Given the description of an element on the screen output the (x, y) to click on. 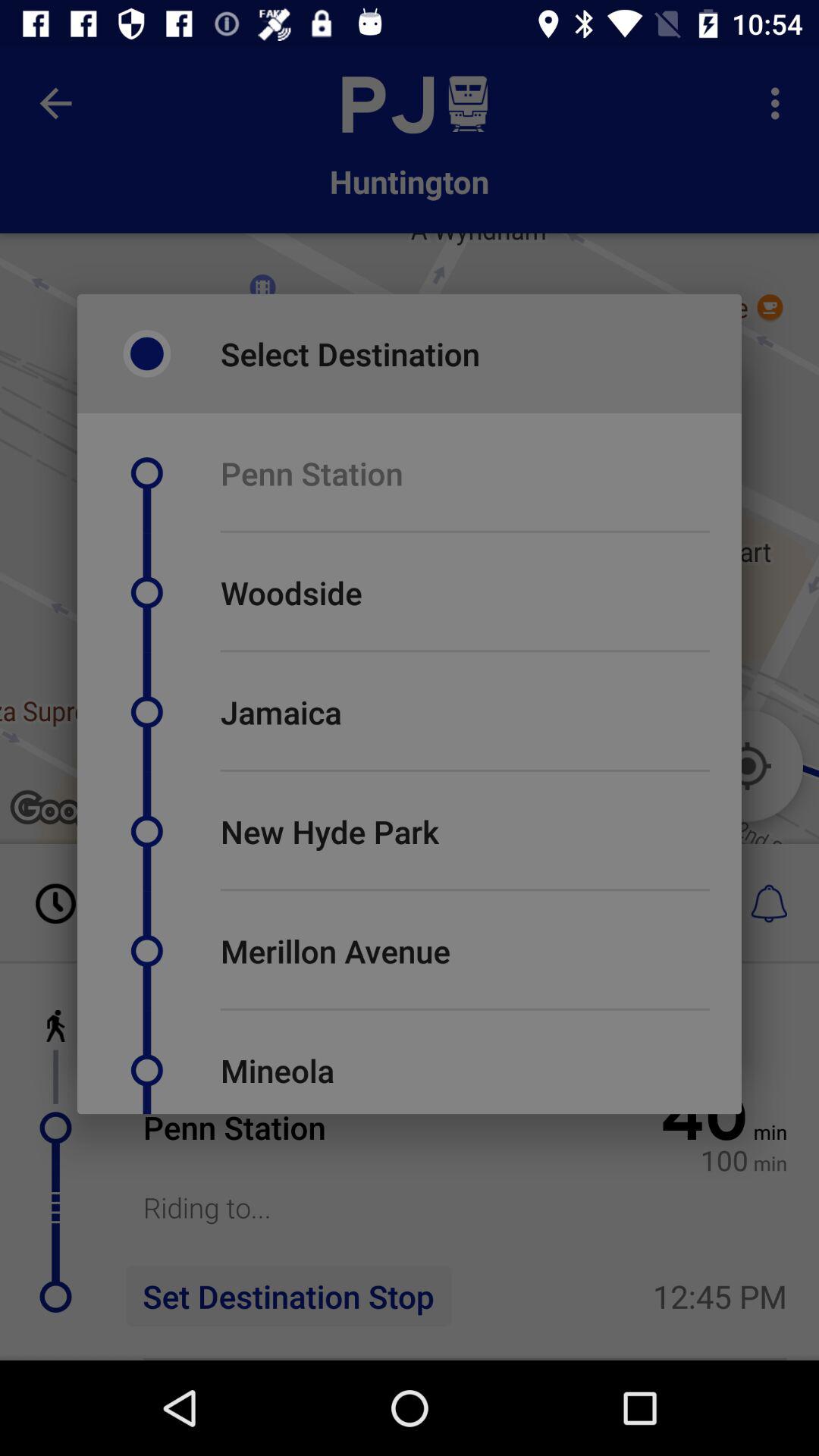
swipe until the new hyde park (329, 831)
